Given the description of an element on the screen output the (x, y) to click on. 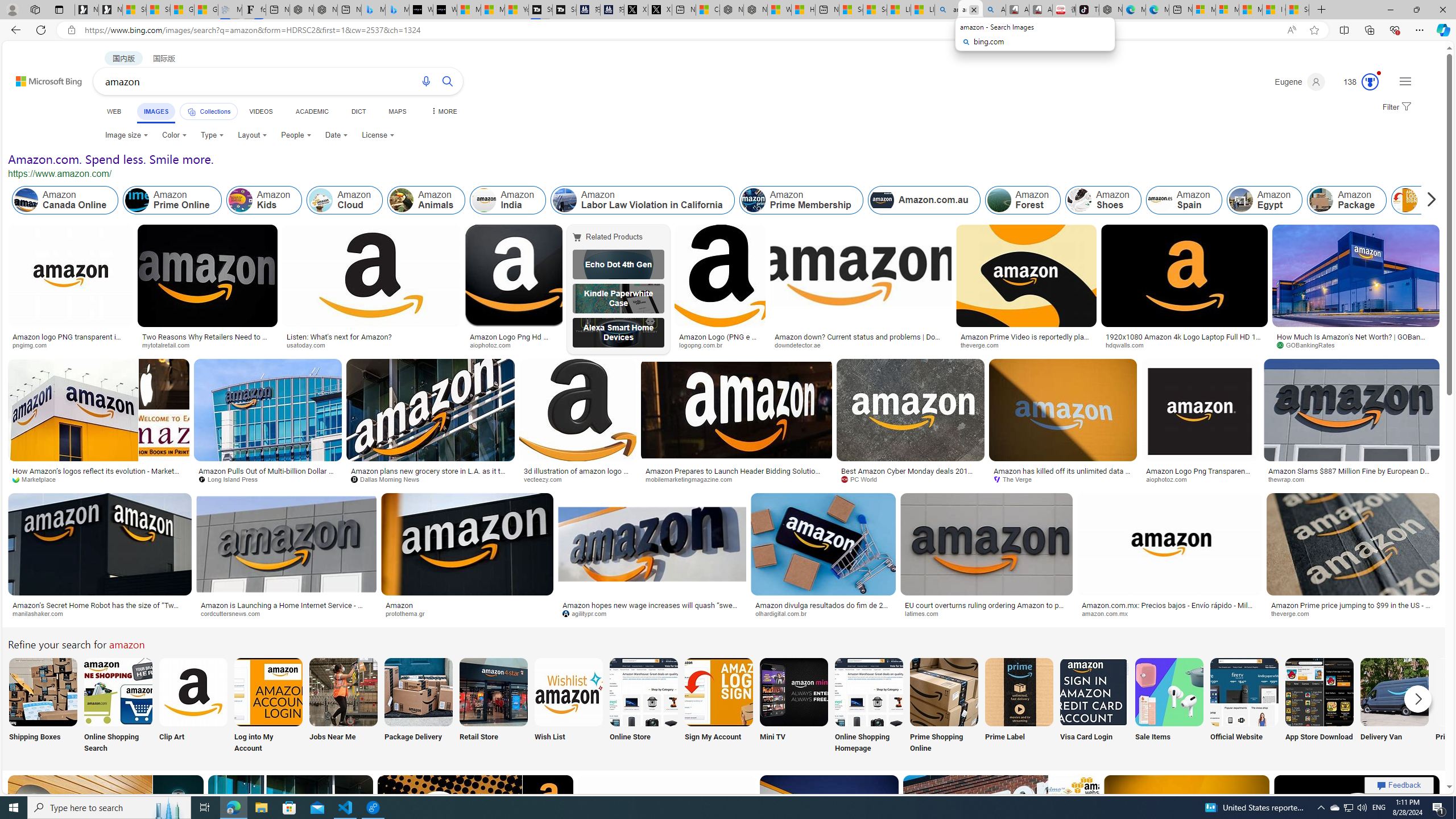
vecteezy.com (577, 479)
People (295, 135)
Amazon Logo Png Hd Wallpaper | Images and Photos finder (513, 340)
mobilemarketingmagazine.com (693, 479)
Package Delivery (418, 706)
IMAGES (156, 112)
ACADEMIC (311, 111)
mobilemarketingmagazine.com (736, 479)
Amazon Prime Shopping Online (944, 691)
